Given the description of an element on the screen output the (x, y) to click on. 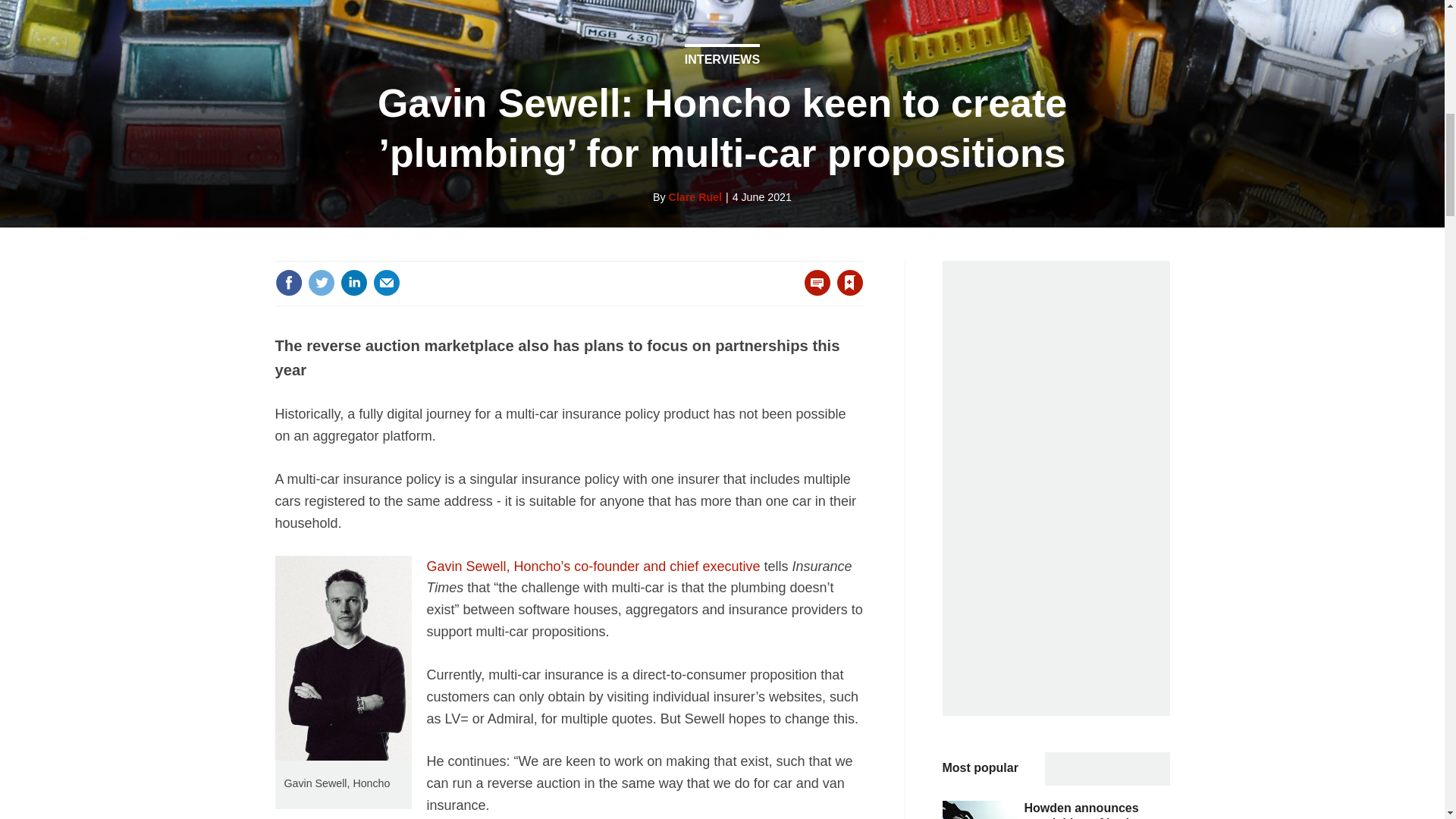
Share this on Linked in (352, 282)
Share this on Facebook (288, 282)
Share this on Twitter (320, 282)
Email this article (386, 282)
No comments (812, 291)
